Given the description of an element on the screen output the (x, y) to click on. 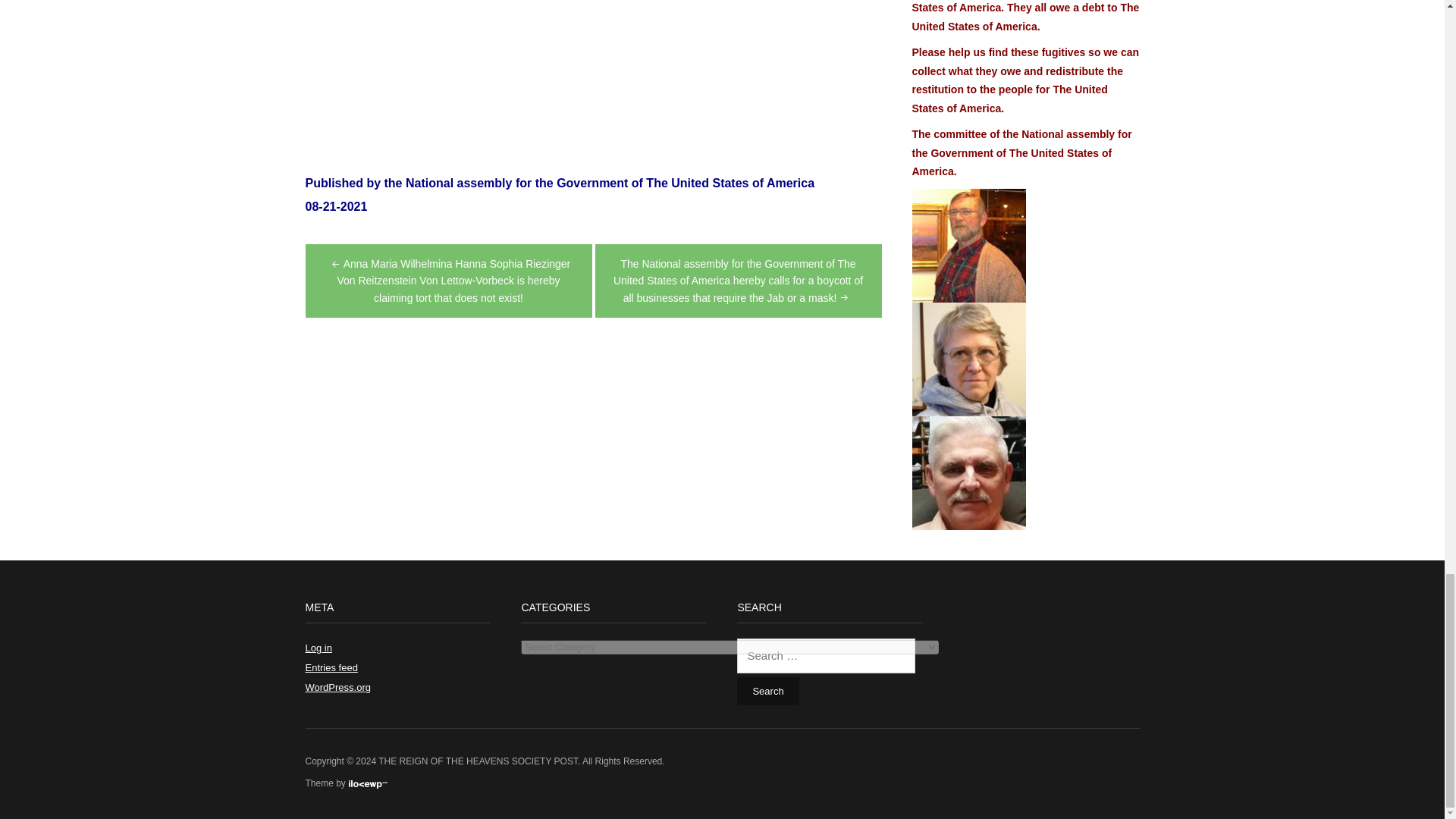
YouTube video player (592, 72)
Search (766, 691)
Search (766, 691)
